Given the description of an element on the screen output the (x, y) to click on. 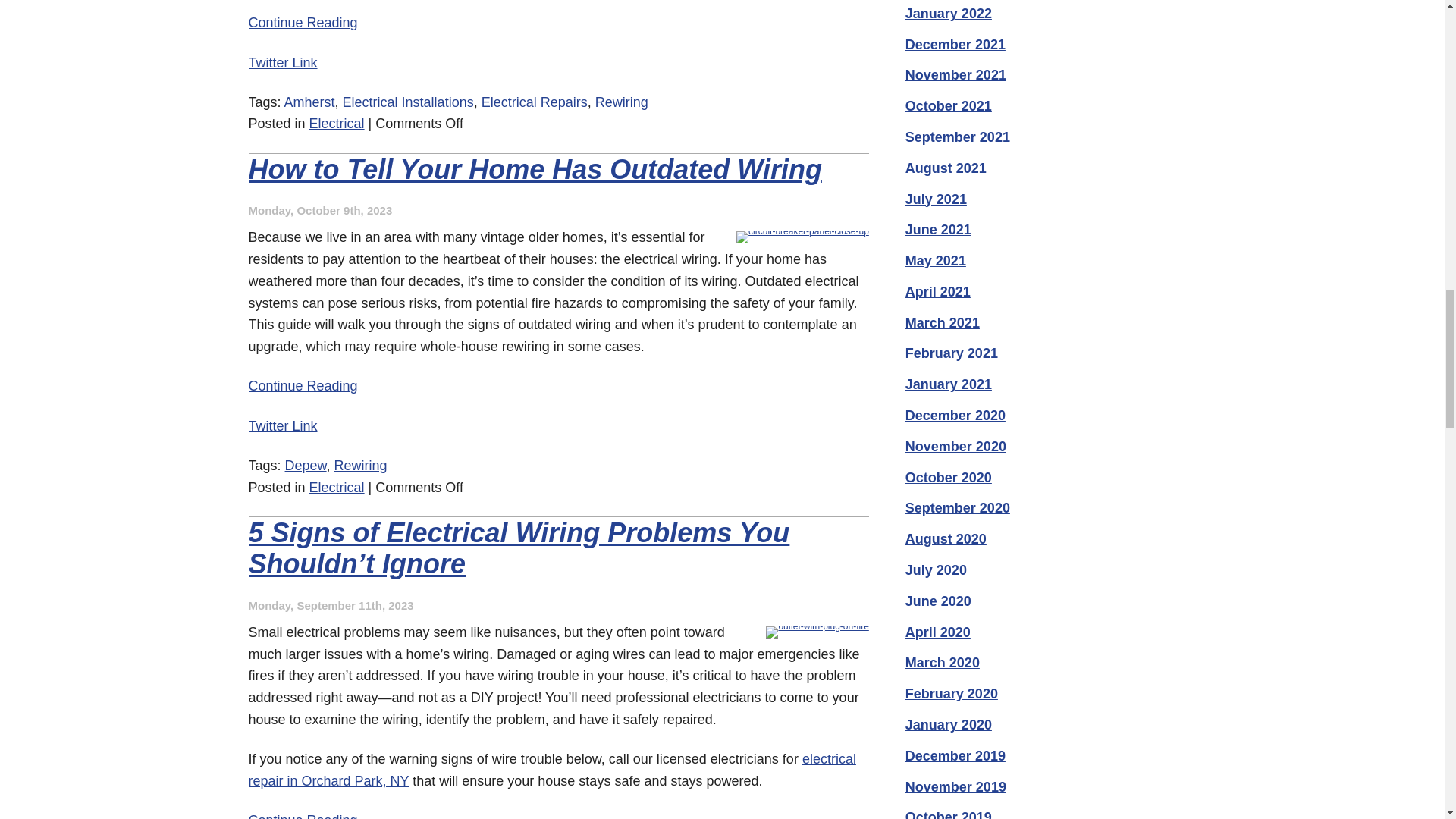
Permanent Link to How to Tell Your Home Has Outdated Wiring (535, 169)
Permanent Link to How to Tell Your Home Has Outdated Wiring (303, 385)
